Given the description of an element on the screen output the (x, y) to click on. 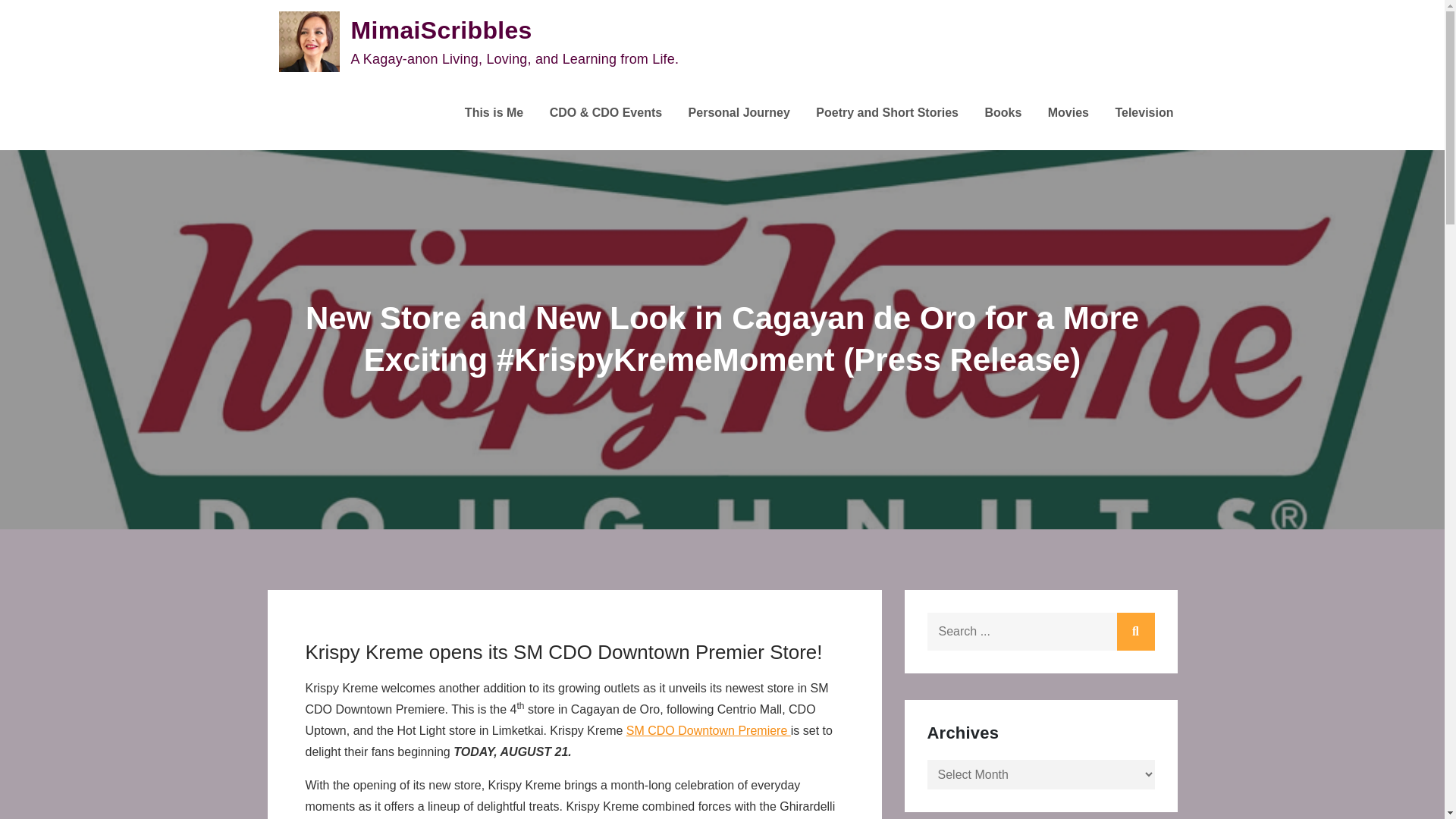
SM CDO Downtown Premiere (708, 730)
Search for: (1040, 631)
Television (1144, 112)
Poetry and Short Stories (886, 112)
Books (1003, 112)
This is Me (493, 112)
Personal Journey (739, 112)
Movies (1068, 112)
Search (1135, 631)
MimaiScribbles (440, 30)
